Given the description of an element on the screen output the (x, y) to click on. 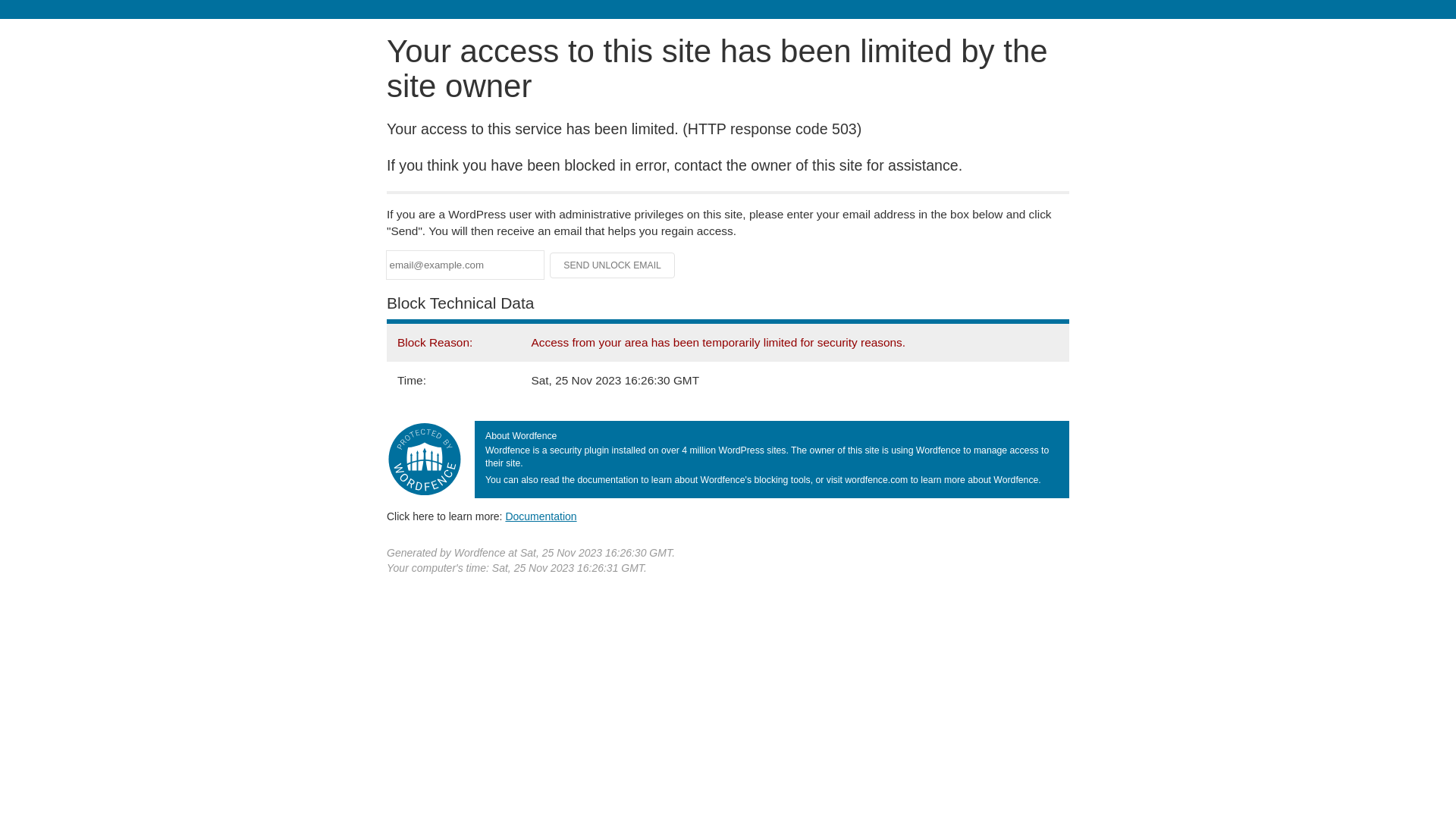
Send Unlock Email Element type: text (612, 265)
Documentation Element type: text (540, 516)
